Given the description of an element on the screen output the (x, y) to click on. 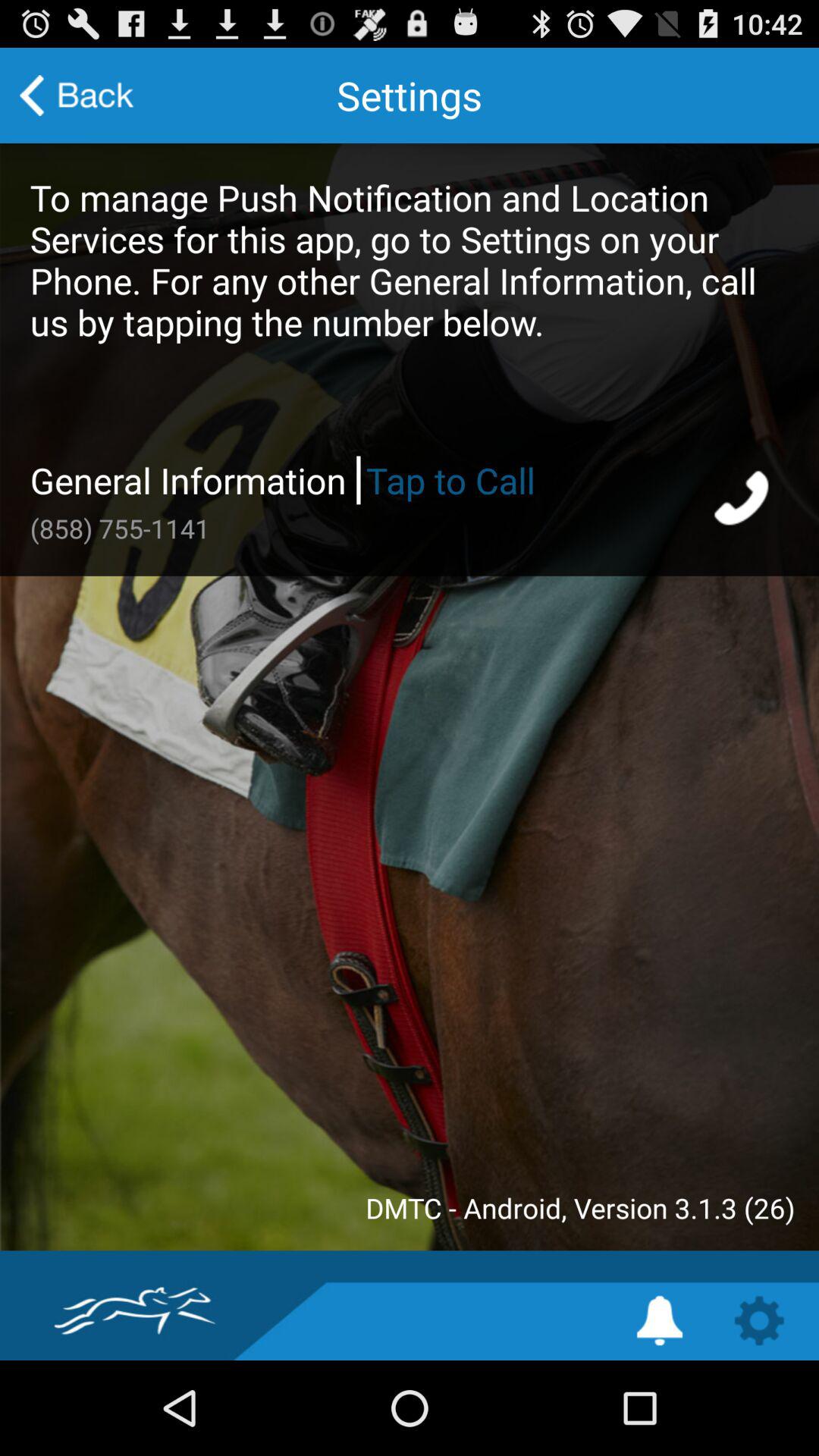
go back (76, 95)
